Given the description of an element on the screen output the (x, y) to click on. 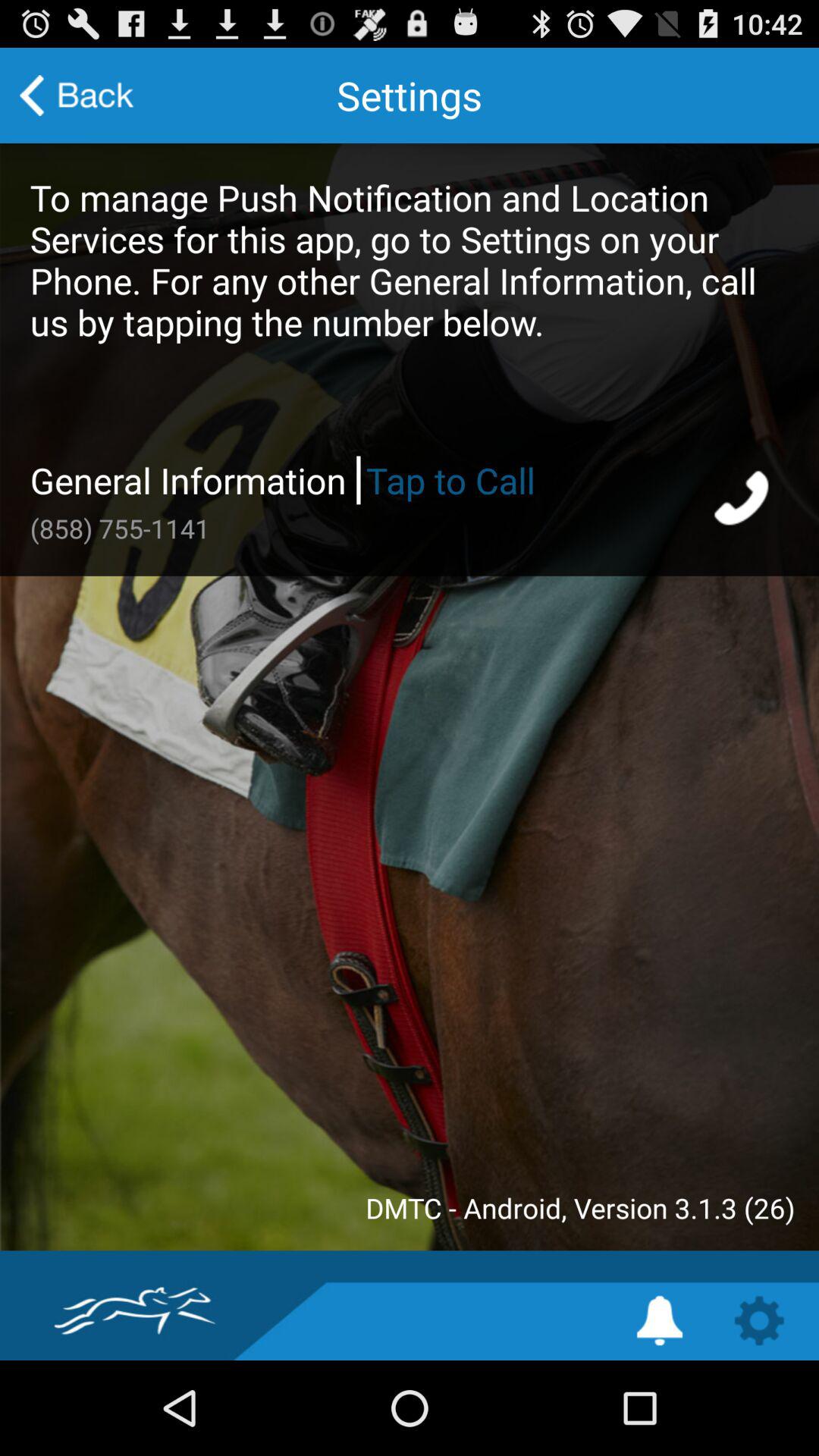
go back (76, 95)
